Given the description of an element on the screen output the (x, y) to click on. 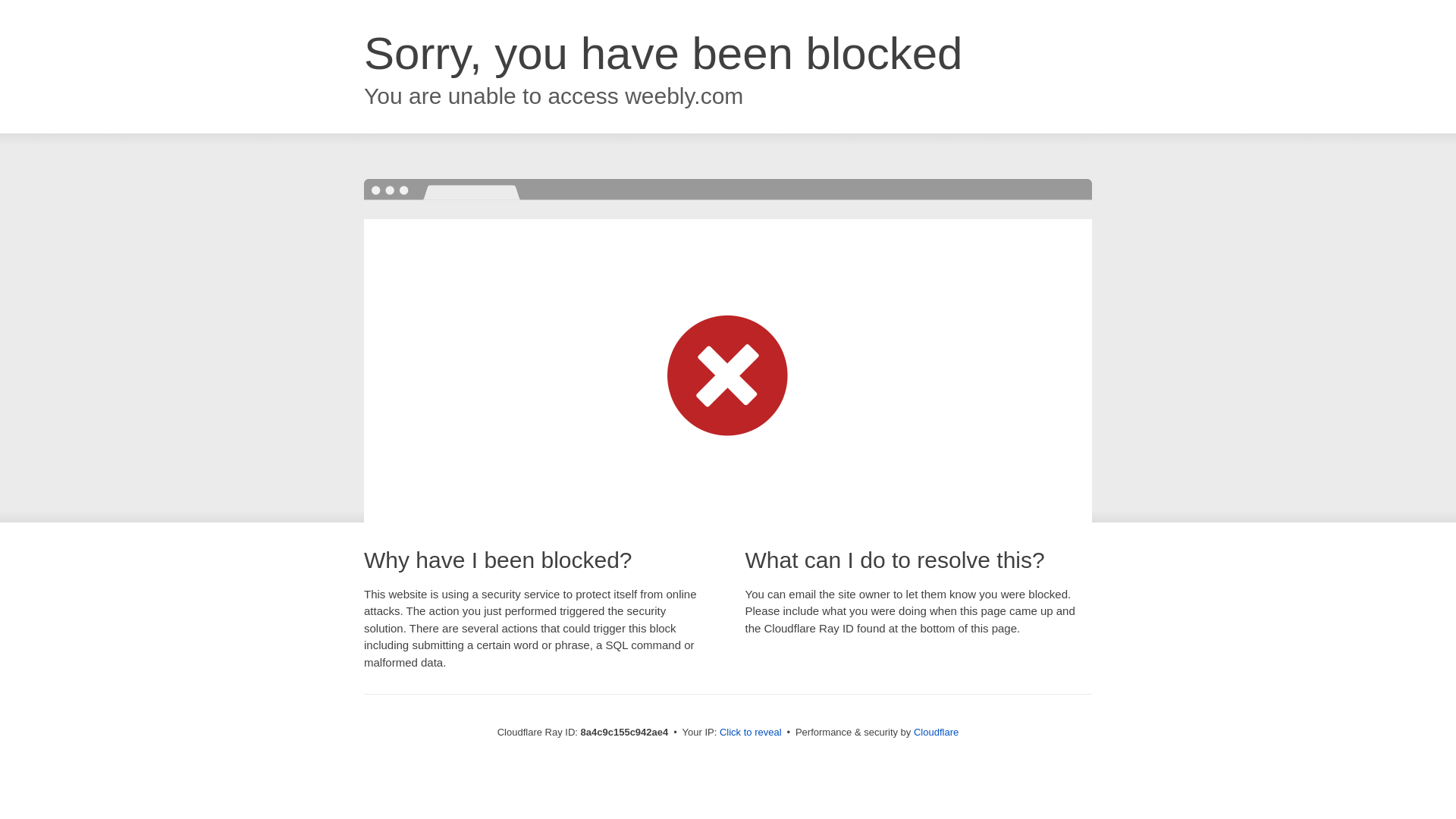
Cloudflare (936, 731)
Click to reveal (750, 732)
